Given the description of an element on the screen output the (x, y) to click on. 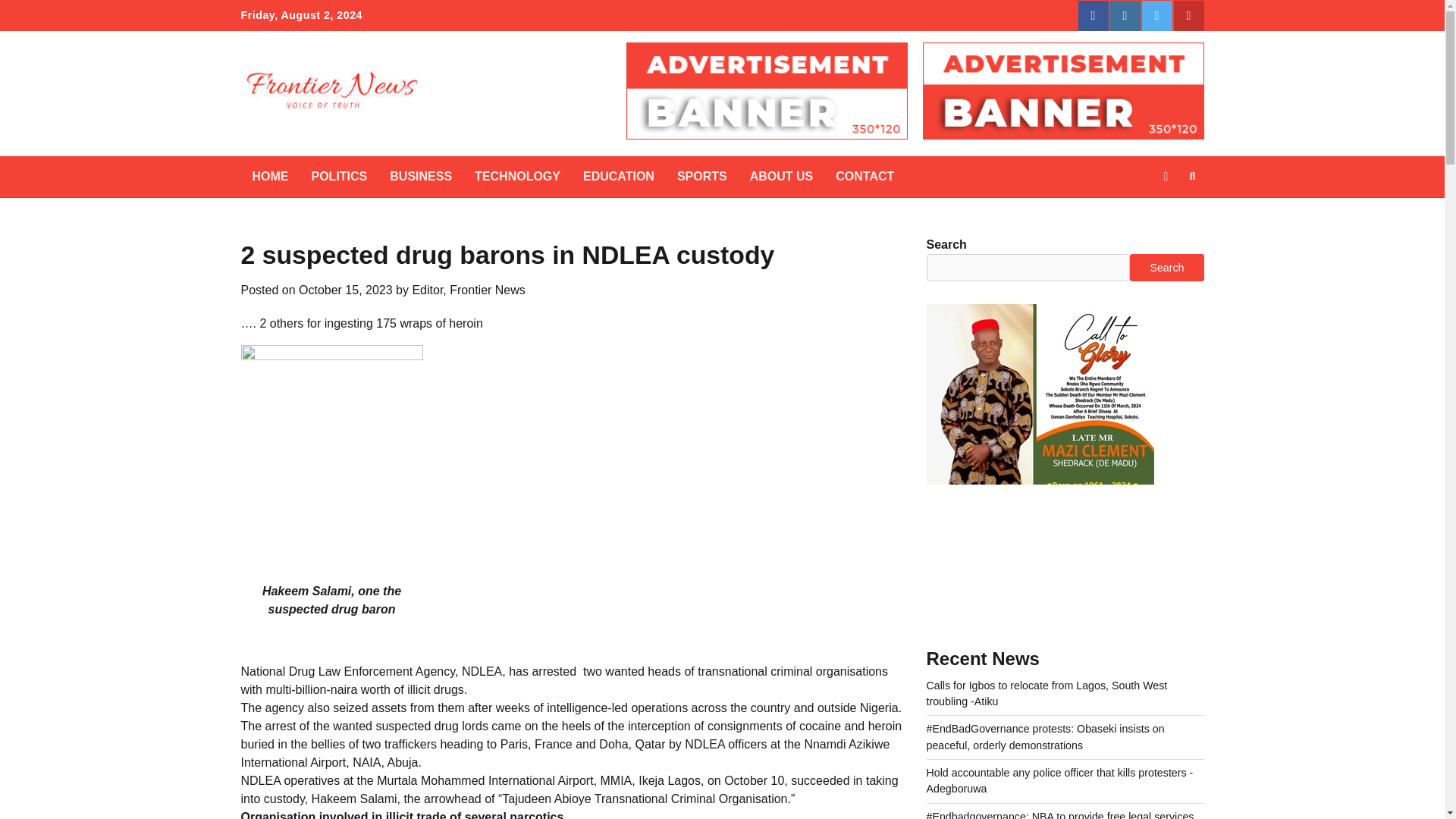
SPORTS (701, 176)
facebook (1093, 15)
twitter (1156, 15)
October 15, 2023 (345, 289)
Editor, Frontier News (468, 289)
POLITICS (338, 176)
EDUCATION (618, 176)
HOME (270, 176)
CONTACT (864, 176)
Search (1192, 176)
instagram (1124, 15)
Search (1164, 212)
BUSINESS (420, 176)
youtube (1188, 15)
TECHNOLOGY (517, 176)
